Given the description of an element on the screen output the (x, y) to click on. 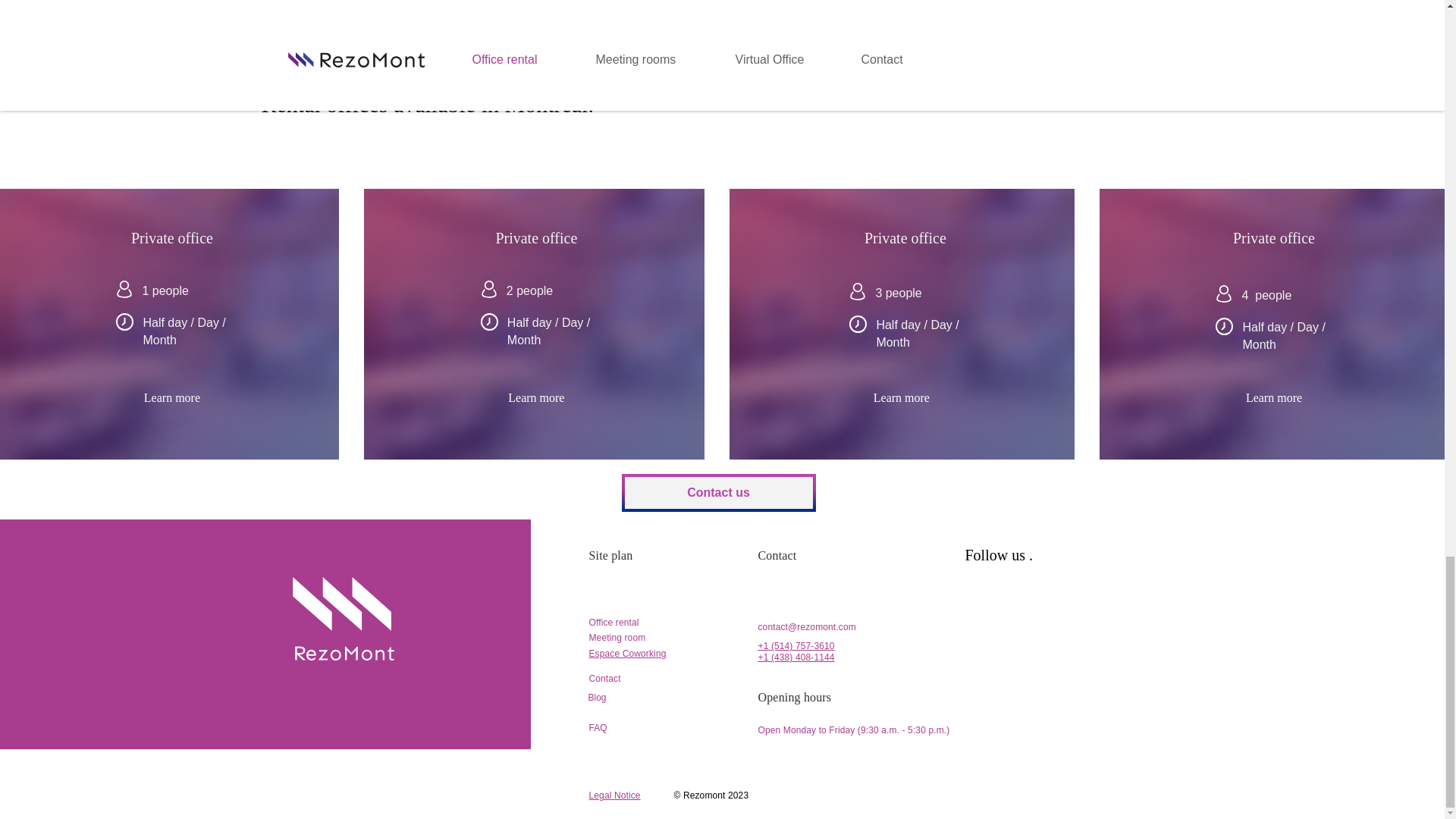
Blog (597, 697)
Learn more (1273, 398)
Learn more (901, 398)
FAQ (597, 727)
Meeting room (616, 637)
Espace Coworking (626, 653)
Learn more (536, 398)
Office rental (613, 622)
Contact (604, 678)
Legal Notice (614, 795)
Learn more (171, 398)
Contact us (718, 492)
